Given the description of an element on the screen output the (x, y) to click on. 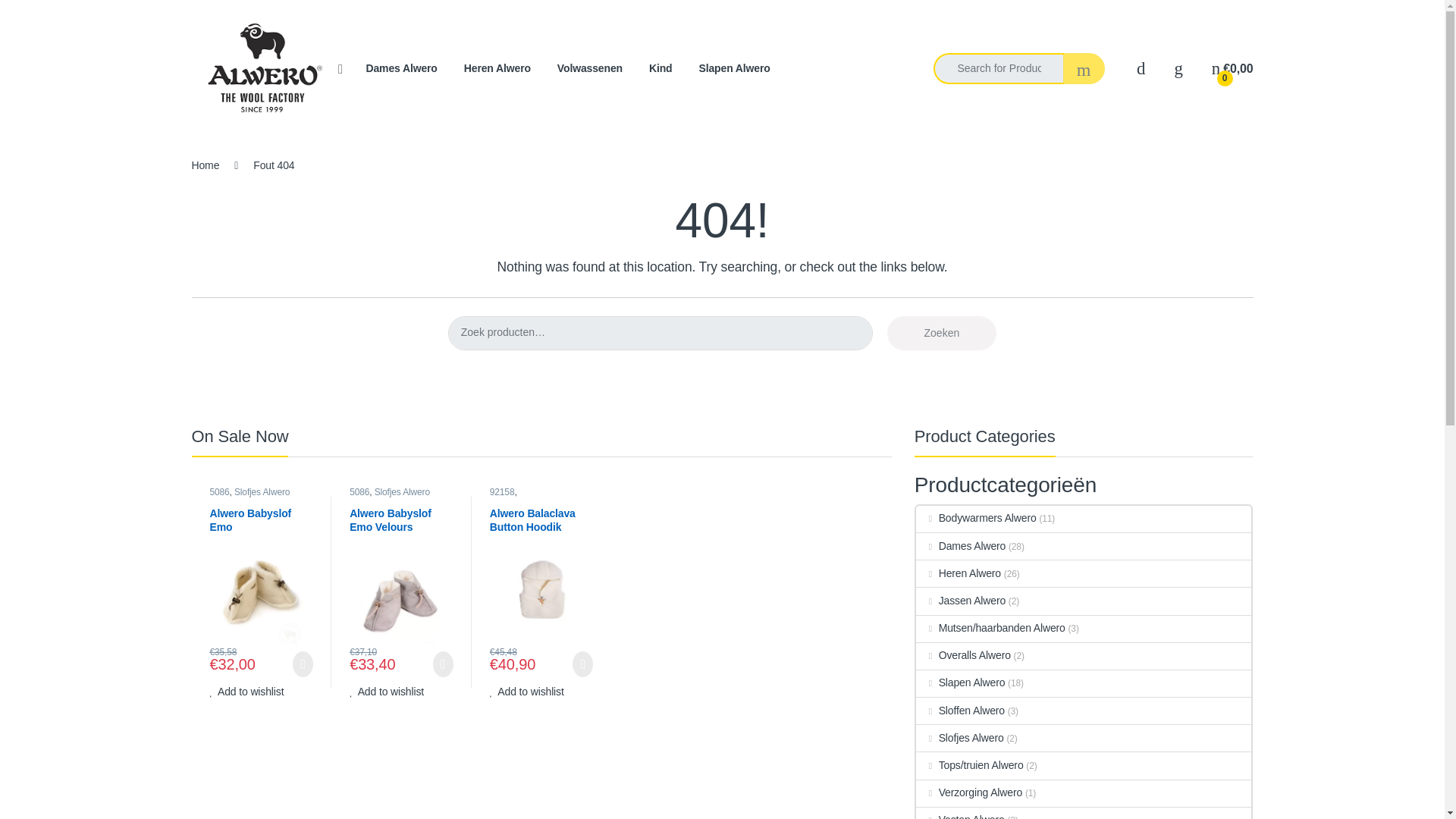
Slapen Alwero (734, 68)
Home (204, 164)
Heren Alwero (497, 68)
Dames Alwero (400, 68)
Slofjes Alwero (261, 491)
Add to wishlist (386, 691)
Zoeken (941, 333)
Heren Alwero (497, 68)
5086 (218, 491)
Add to wishlist (246, 691)
